Given the description of an element on the screen output the (x, y) to click on. 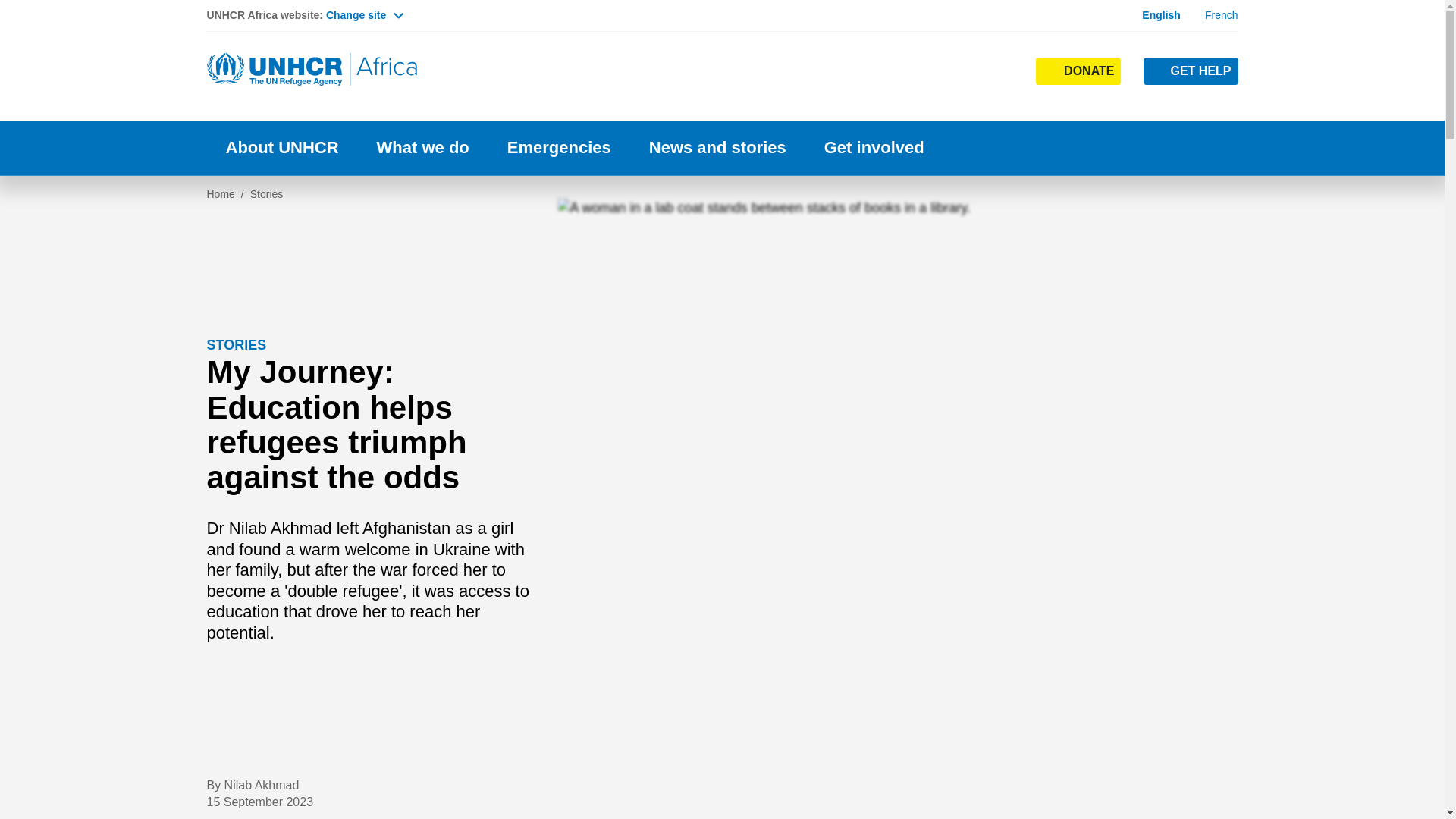
DONATE (1078, 71)
About UNHCR (281, 148)
French (1222, 15)
English (1160, 15)
Change site (364, 15)
Home (312, 69)
Skip to main content (721, 1)
Search (952, 69)
Search (954, 99)
GET HELP (1189, 71)
